Given the description of an element on the screen output the (x, y) to click on. 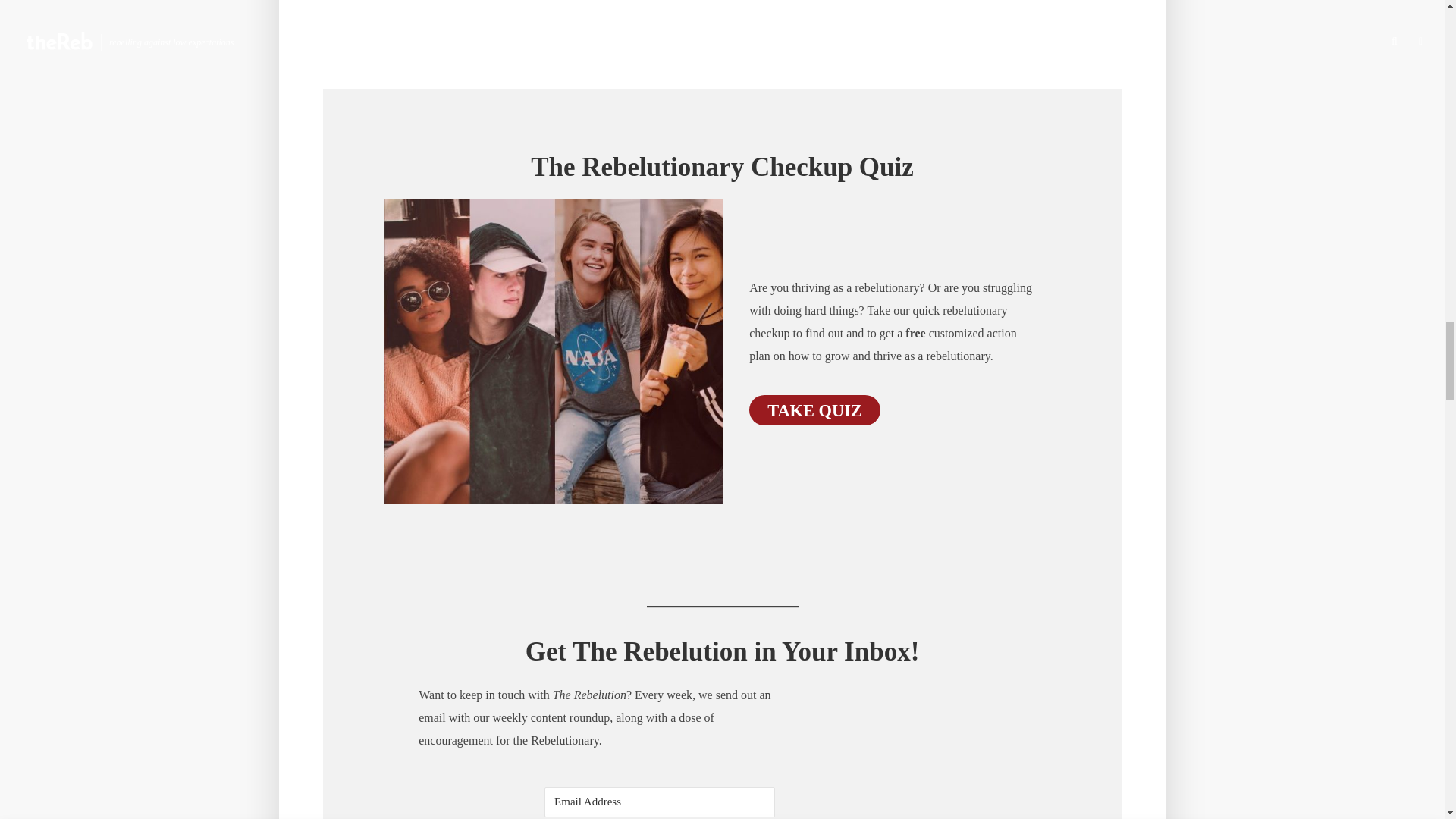
TAKE QUIZ (814, 409)
